Given the description of an element on the screen output the (x, y) to click on. 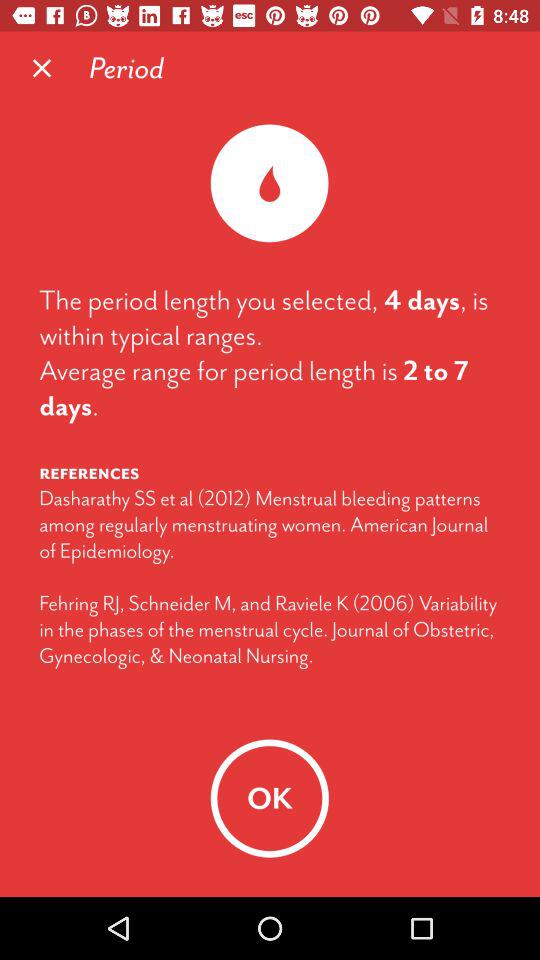
exit this page (42, 68)
